Given the description of an element on the screen output the (x, y) to click on. 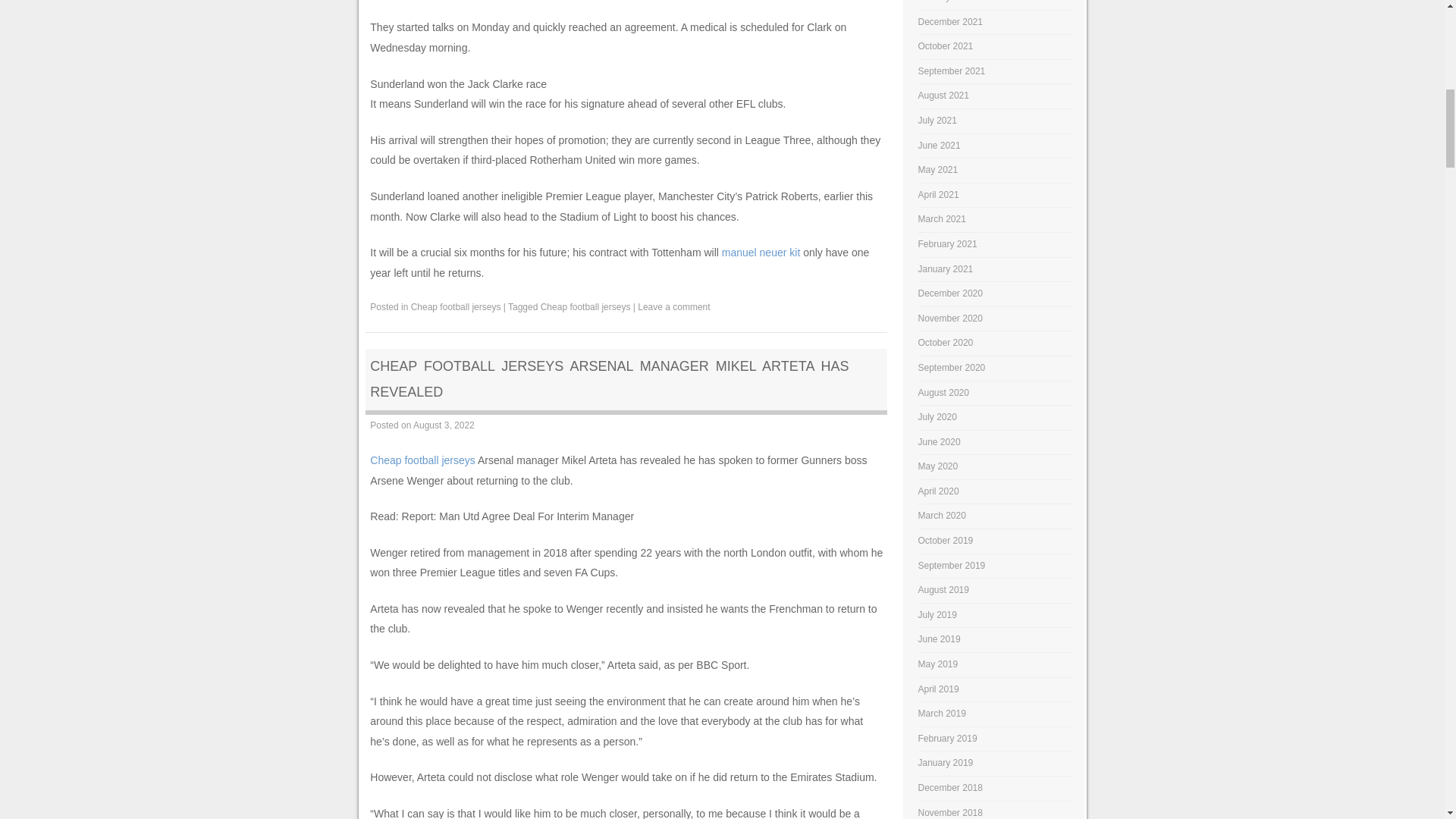
8:36 am (443, 425)
Leave a comment (673, 307)
manuel neuer kit (761, 252)
August 3, 2022 (443, 425)
Cheap football jerseys (422, 460)
Cheap football jerseys (585, 307)
Cheap football jerseys (455, 307)
